Given the description of an element on the screen output the (x, y) to click on. 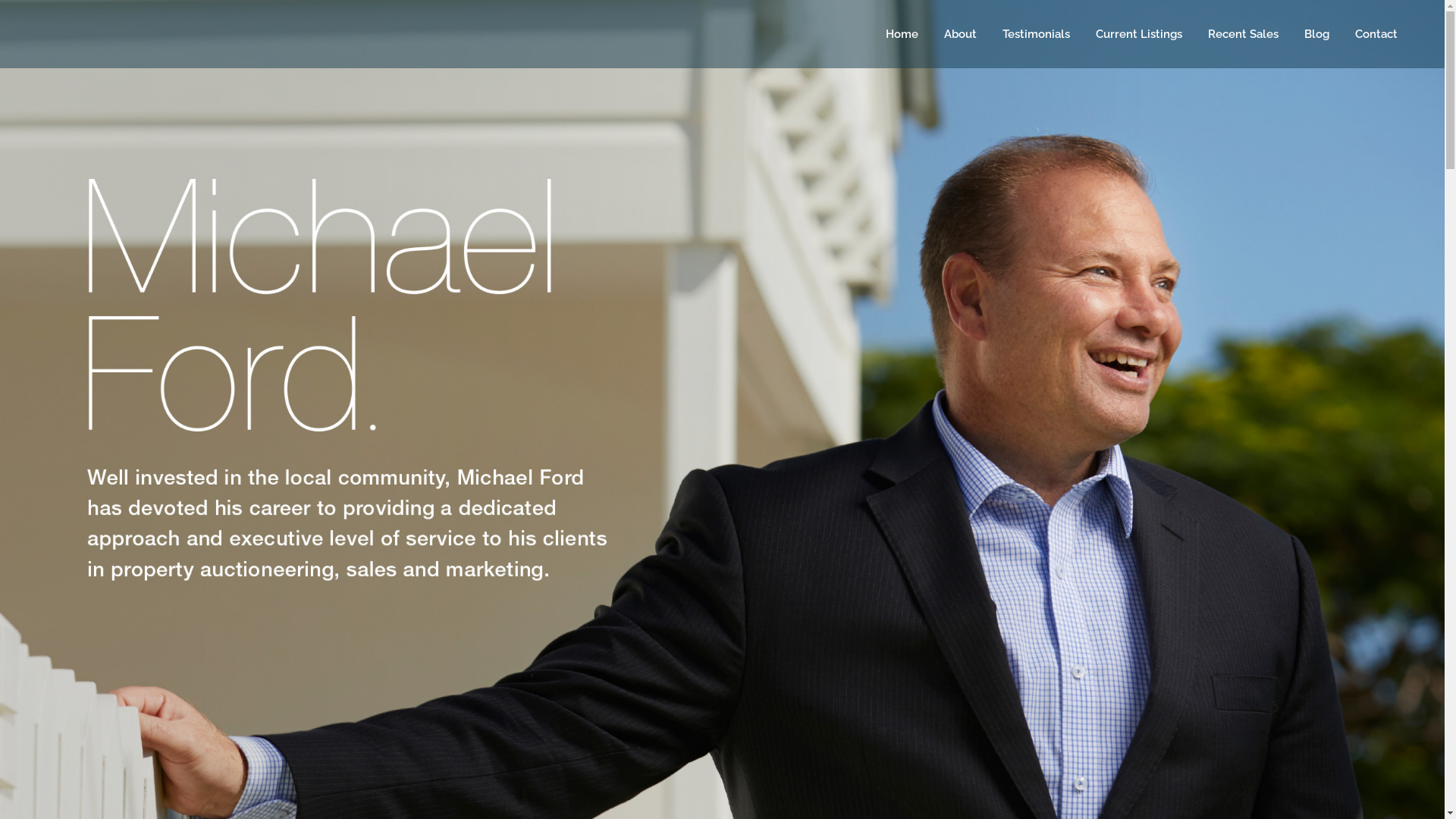
Home Element type: text (901, 34)
Testimonials Element type: text (1035, 34)
About Element type: text (960, 34)
Contact Element type: text (1376, 34)
Recent Sales Element type: text (1243, 34)
Current Listings Element type: text (1138, 34)
Blog Element type: text (1316, 34)
